Given the description of an element on the screen output the (x, y) to click on. 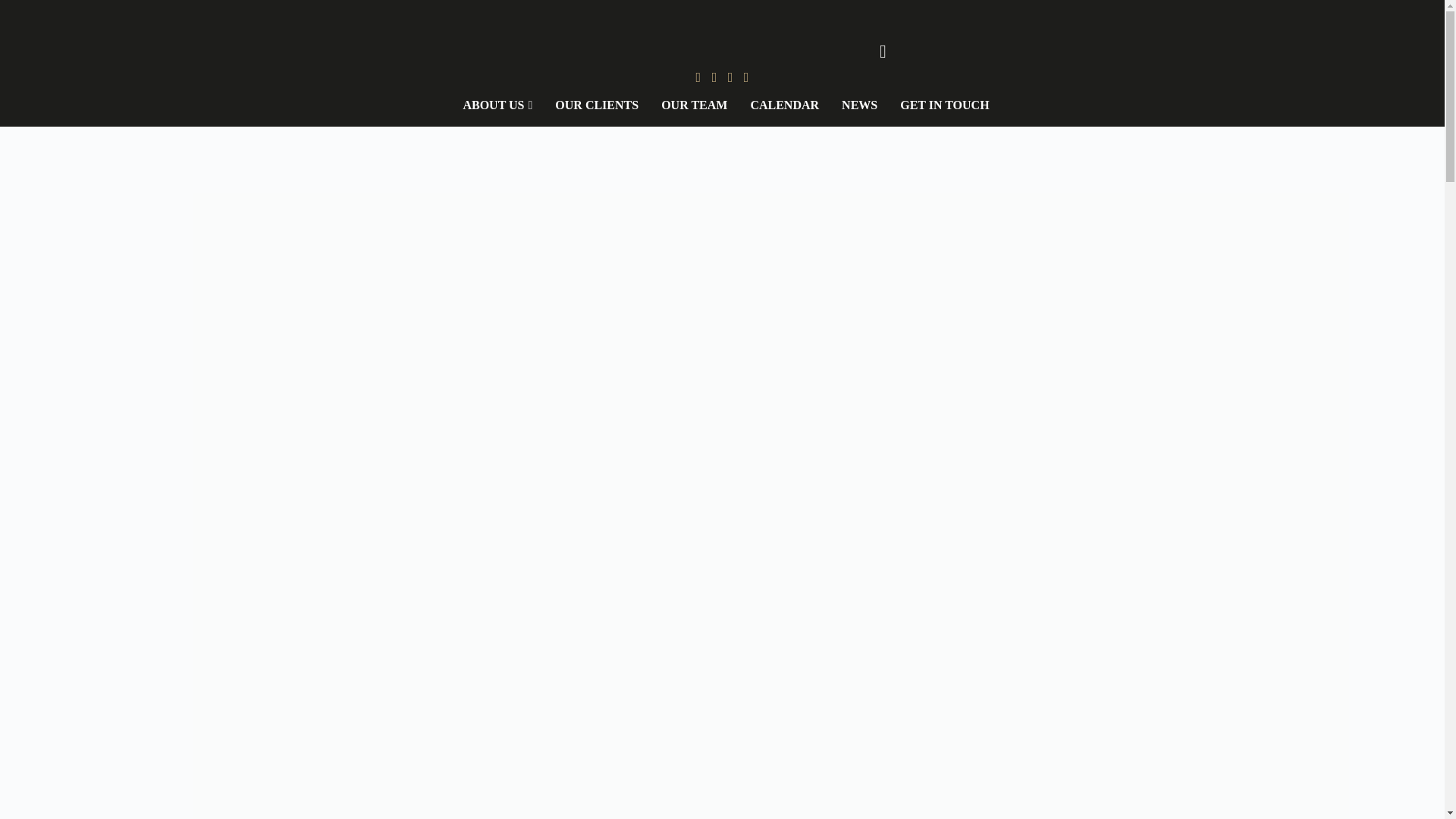
OUR CLIENTS (596, 105)
OUR TEAM (693, 105)
Our Clients (596, 105)
CALENDAR (783, 105)
ABOUT US (497, 105)
GET IN TOUCH (943, 105)
Get in touch (943, 105)
Calendar (783, 105)
Our Team (693, 105)
About us (497, 105)
